Given the description of an element on the screen output the (x, y) to click on. 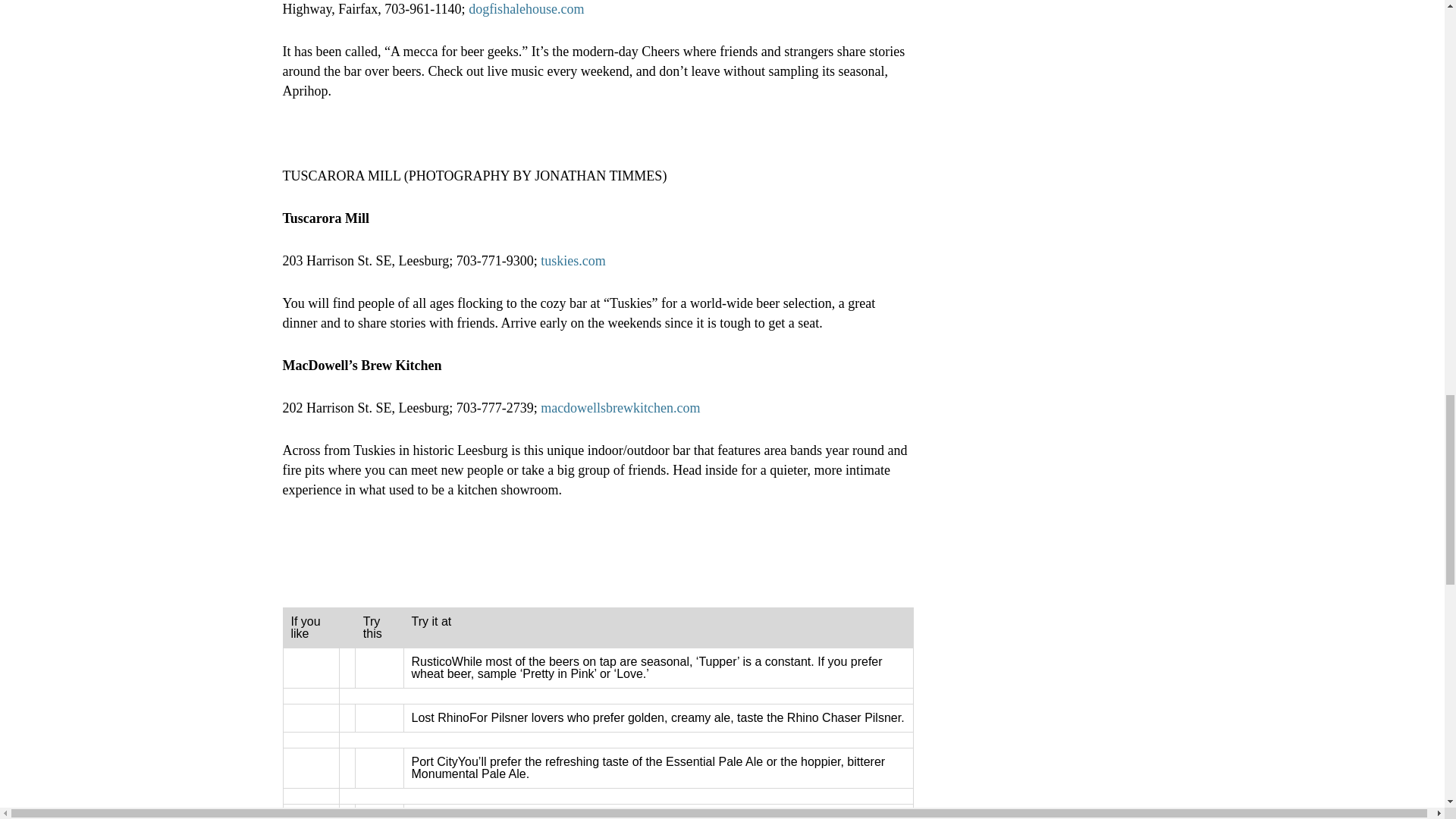
macdowellsbrewkitchen.com (620, 407)
tuskies.com (572, 260)
dogfishalehouse.com (525, 8)
